Given the description of an element on the screen output the (x, y) to click on. 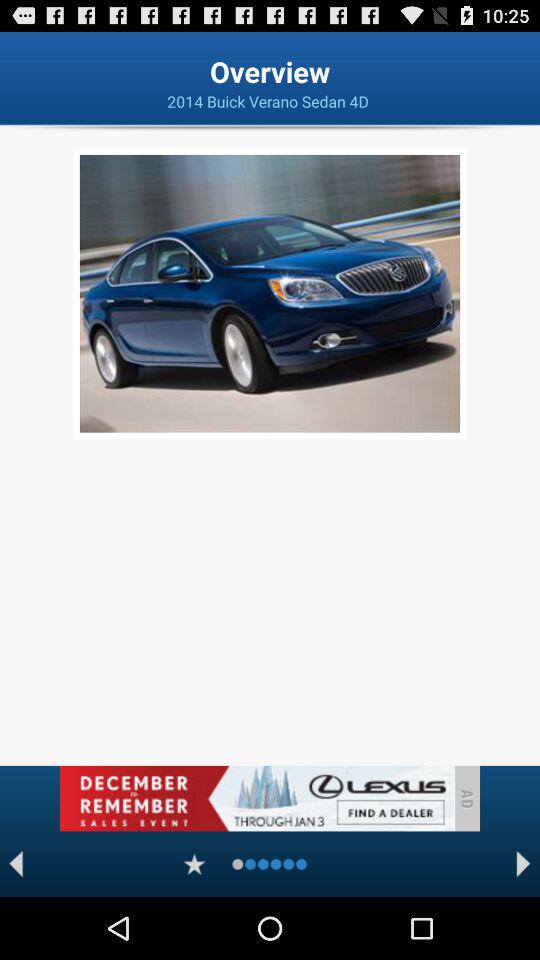
see next photo (523, 864)
